Given the description of an element on the screen output the (x, y) to click on. 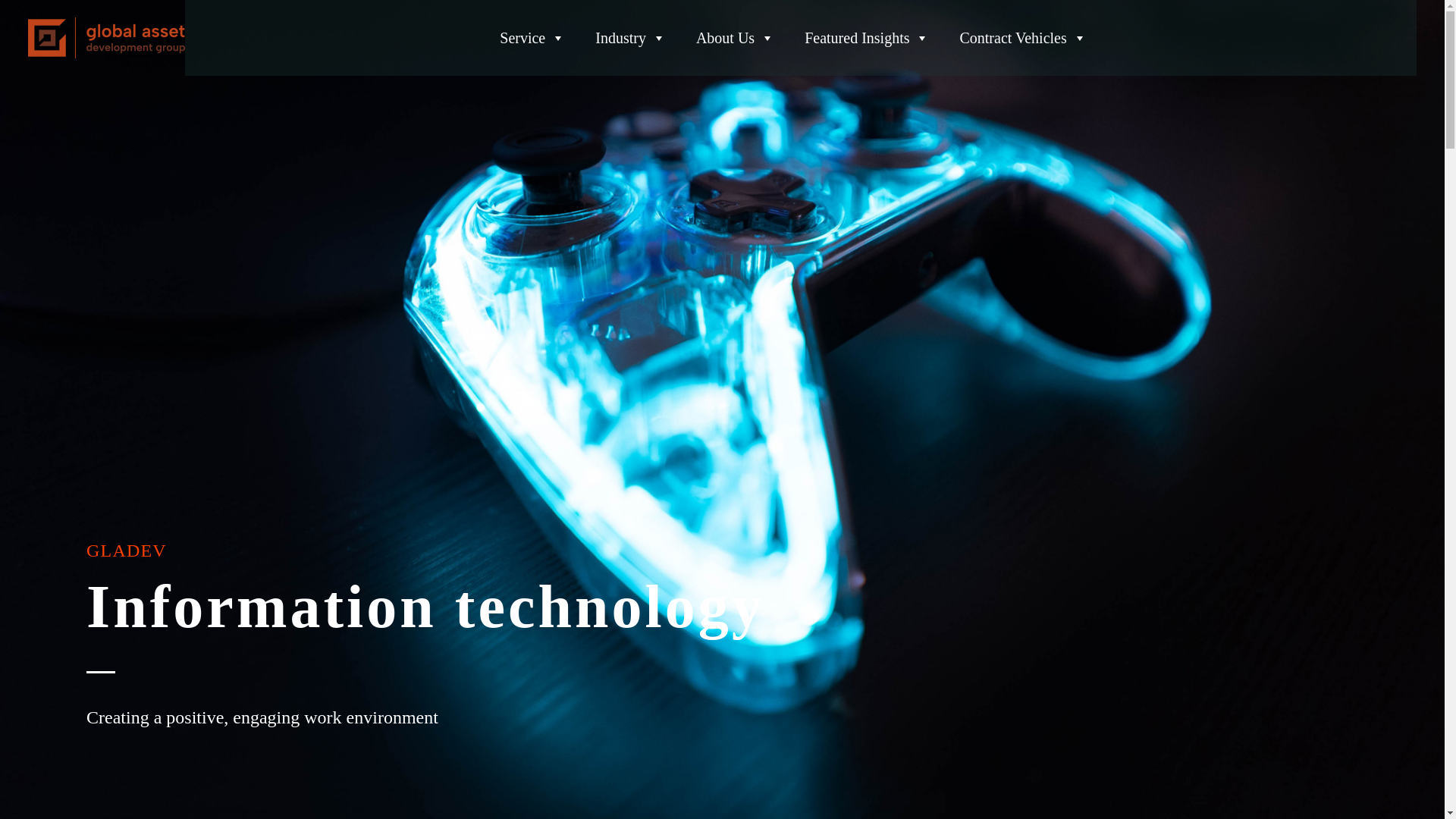
Industry (630, 38)
Service (532, 38)
Featured Insights (866, 38)
Contract Vehicles (1022, 38)
About Us (734, 38)
